Given the description of an element on the screen output the (x, y) to click on. 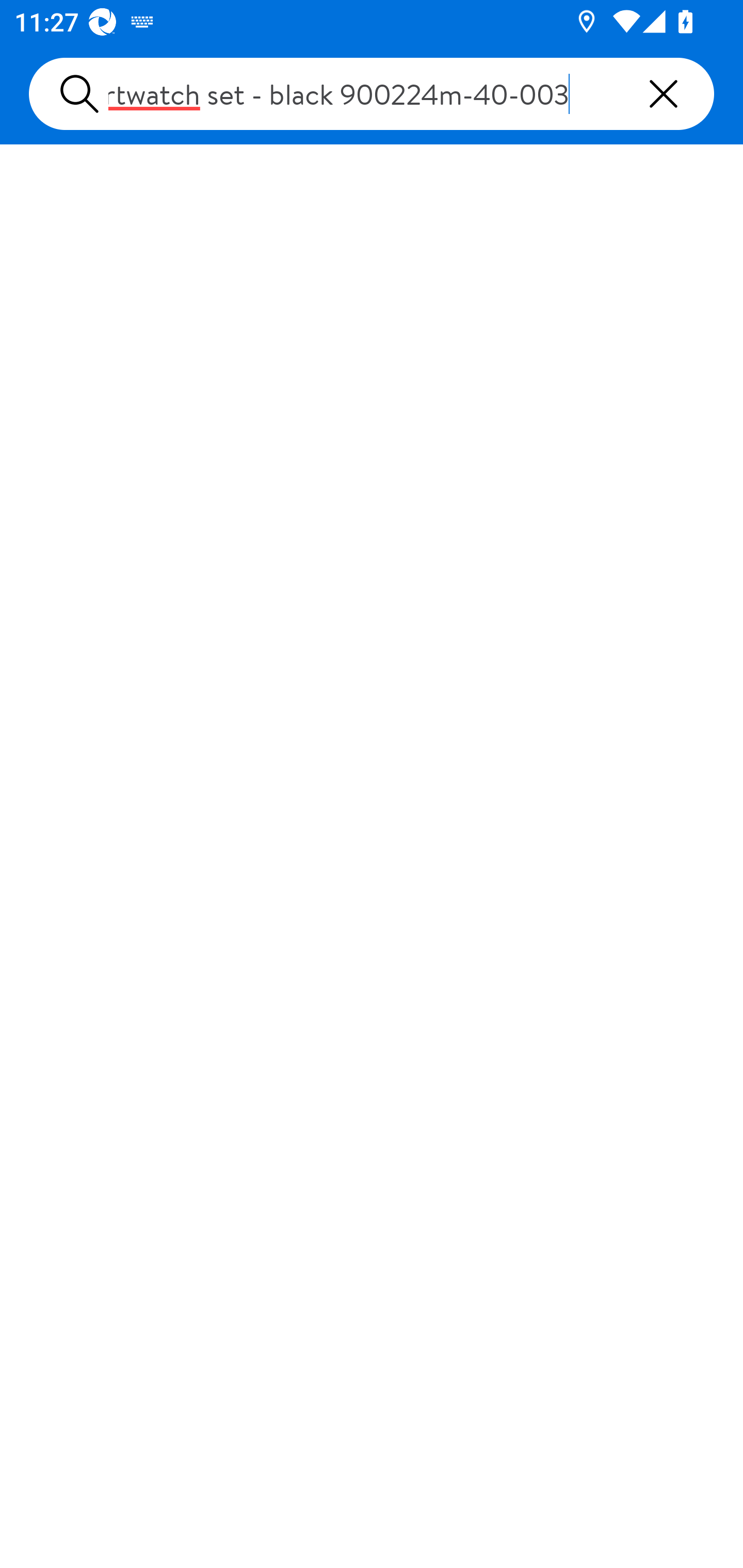
Clear Text (663, 94)
